Given the description of an element on the screen output the (x, y) to click on. 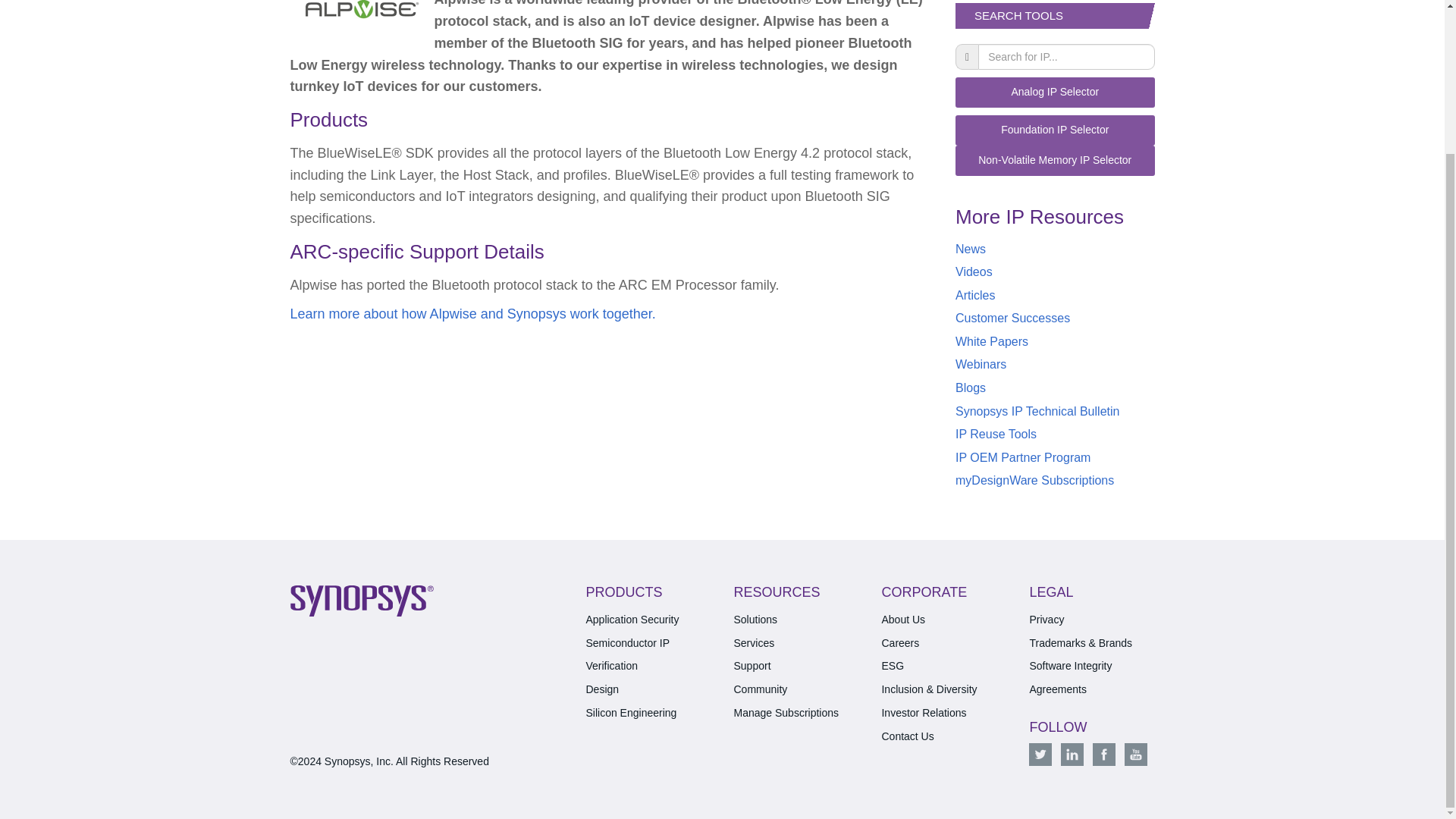
Twitter (1040, 753)
Linkedin (1072, 753)
Youtube (1135, 753)
Facebook (1104, 753)
